Given the description of an element on the screen output the (x, y) to click on. 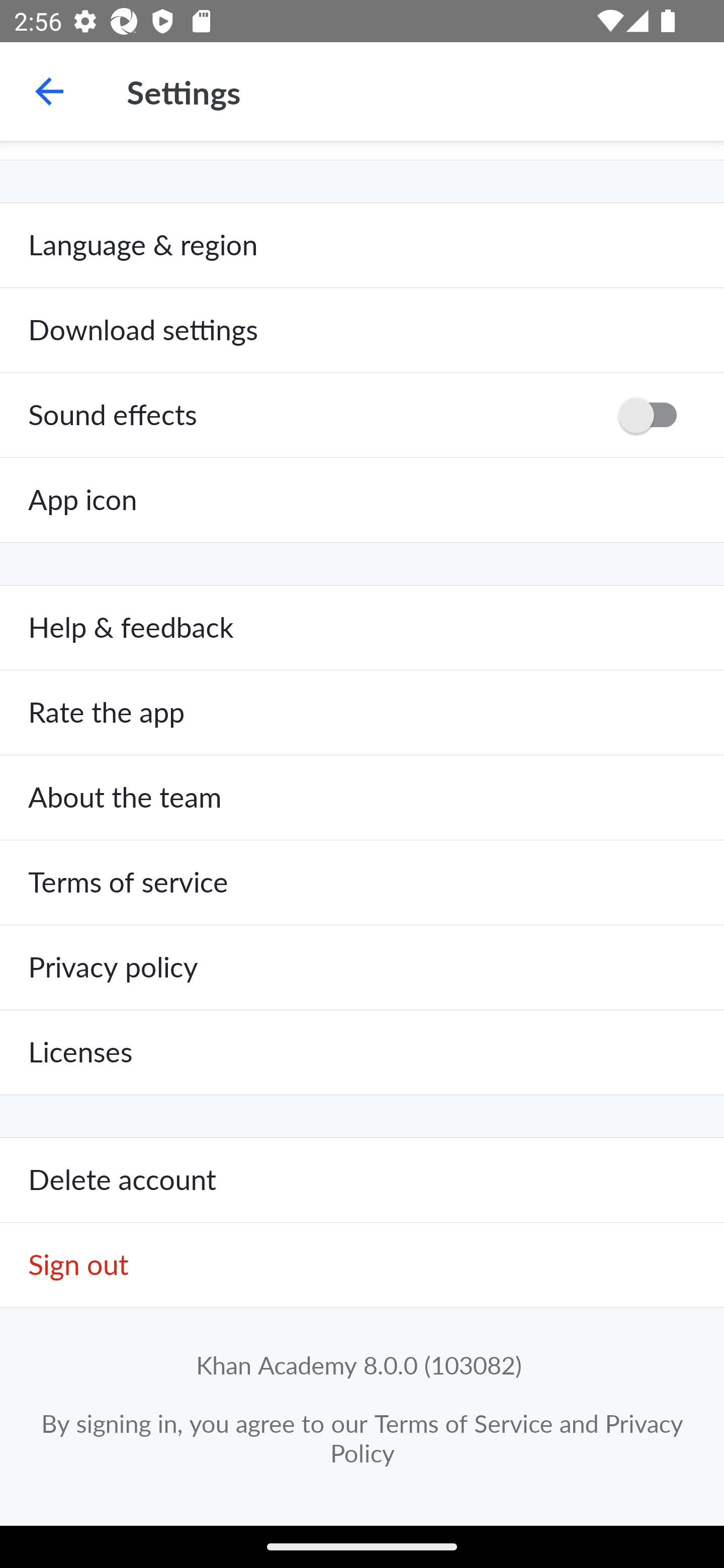
Navigate up (49, 91)
Language & region (362, 245)
Download settings (362, 330)
OFF (653, 415)
App icon (362, 499)
Help & feedback (362, 627)
Rate the app (362, 713)
About the team (362, 797)
Terms of service (362, 882)
Privacy policy (362, 967)
Licenses (362, 1051)
Delete account (362, 1180)
Sign out (362, 1265)
